Given the description of an element on the screen output the (x, y) to click on. 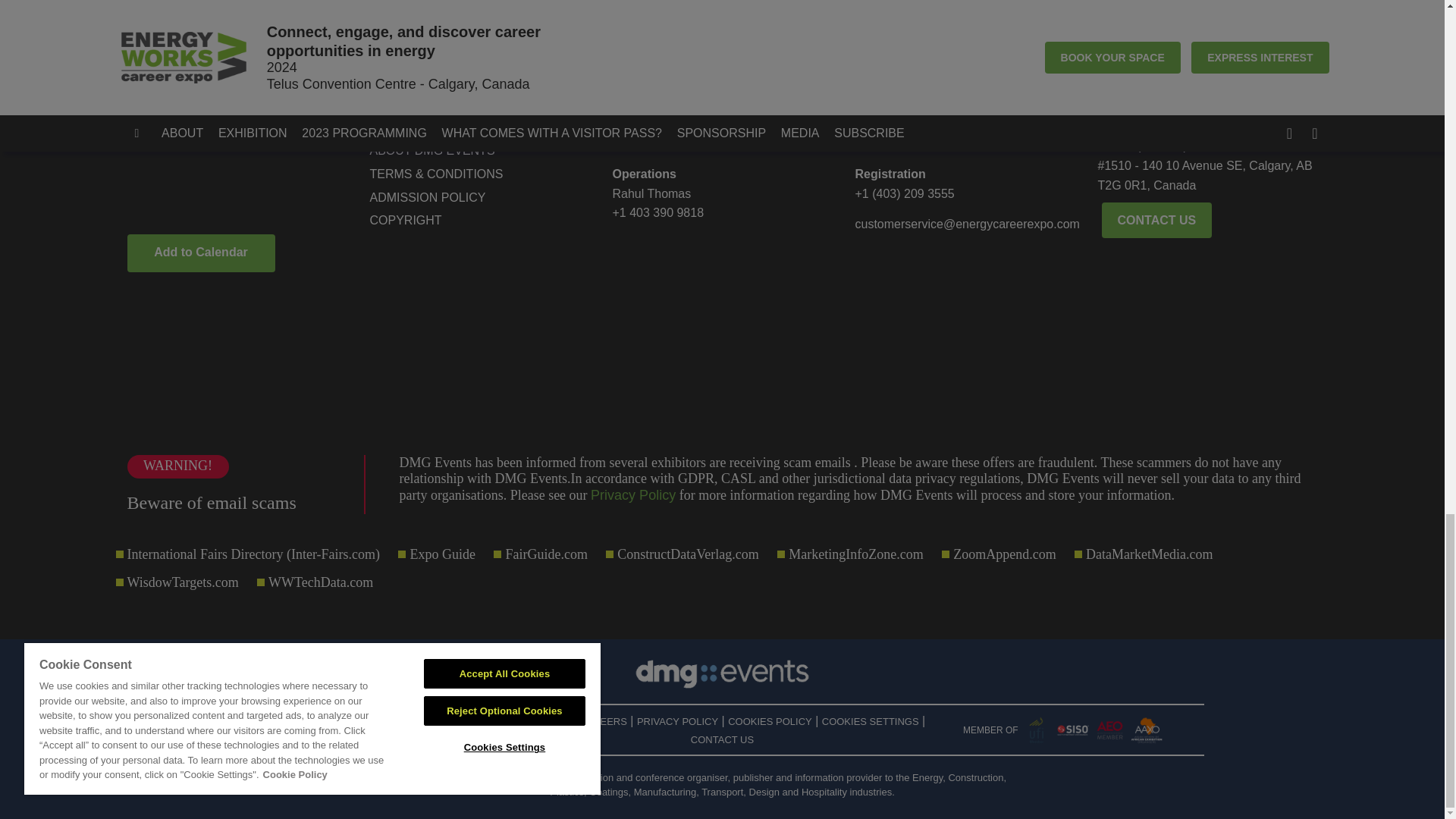
Contact Us (1157, 220)
Contact Us (479, 127)
Copyright (479, 220)
About dmg events (479, 150)
Admission Policy (479, 198)
